Given the description of an element on the screen output the (x, y) to click on. 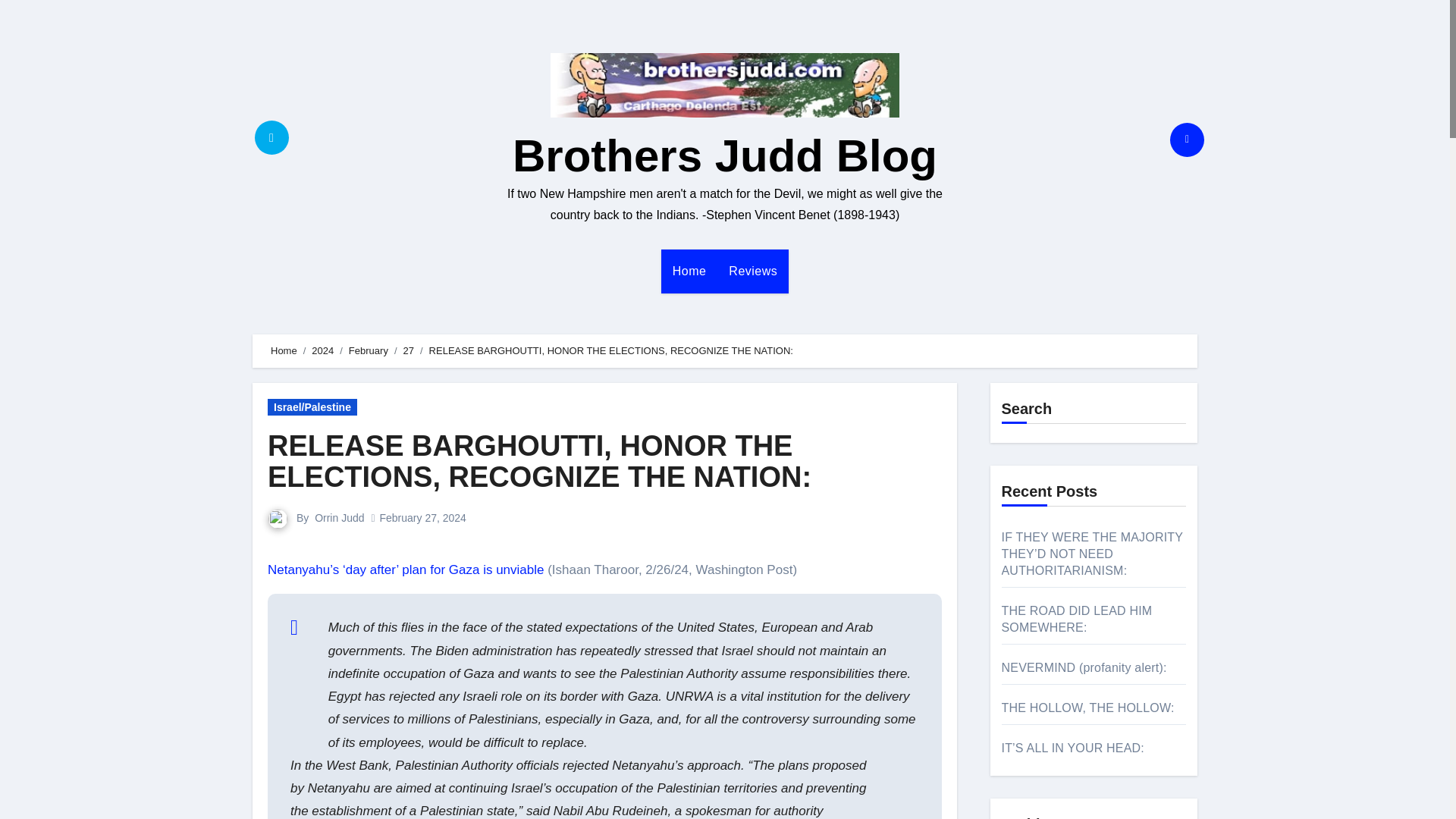
Reviews (753, 271)
2024 (322, 350)
Reviews (753, 271)
27 (408, 350)
February 27, 2024 (421, 517)
Home (283, 350)
Orrin Judd (339, 517)
Home (689, 271)
